Given the description of an element on the screen output the (x, y) to click on. 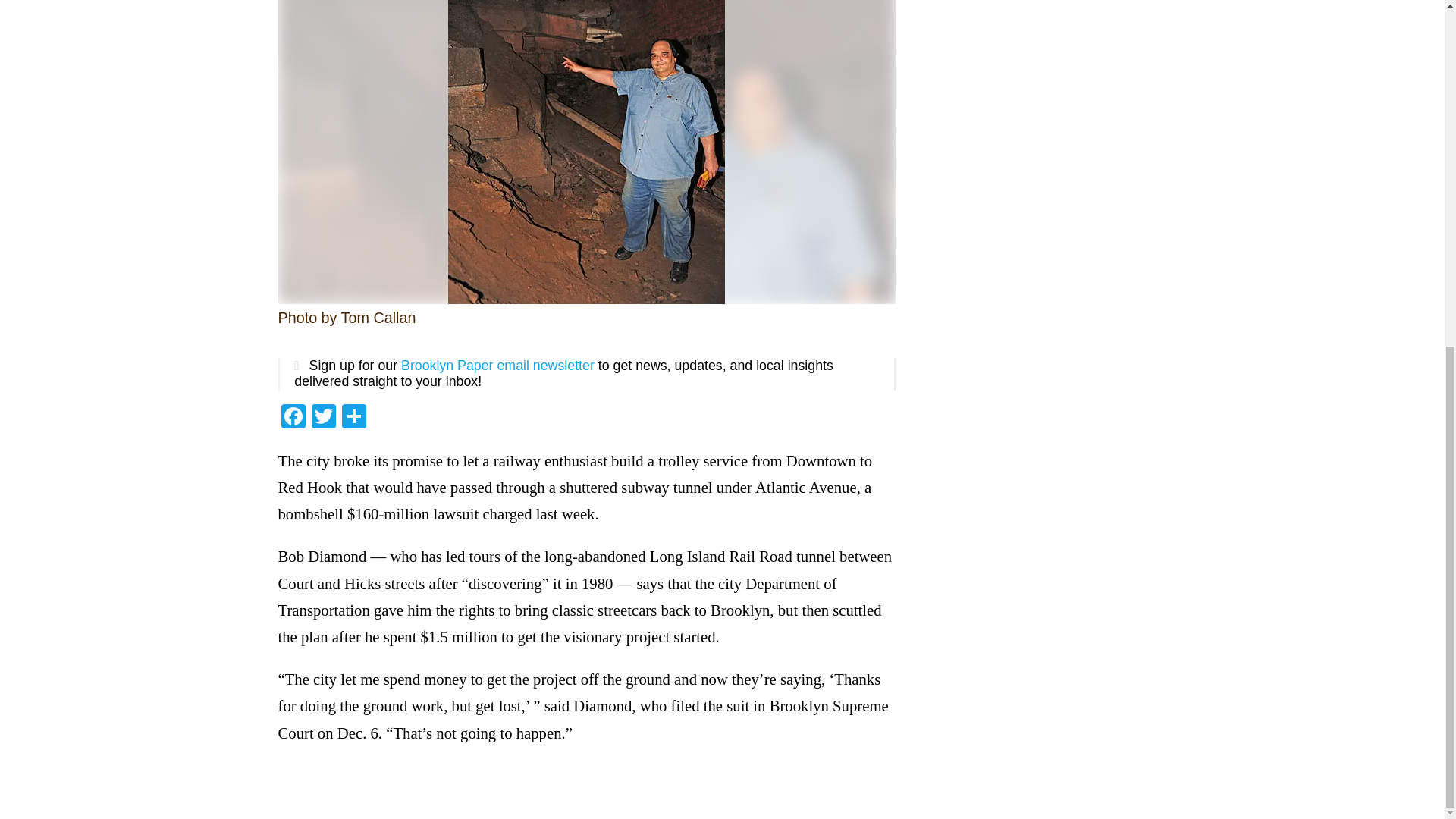
Facebook (292, 418)
Twitter (322, 418)
